Given the description of an element on the screen output the (x, y) to click on. 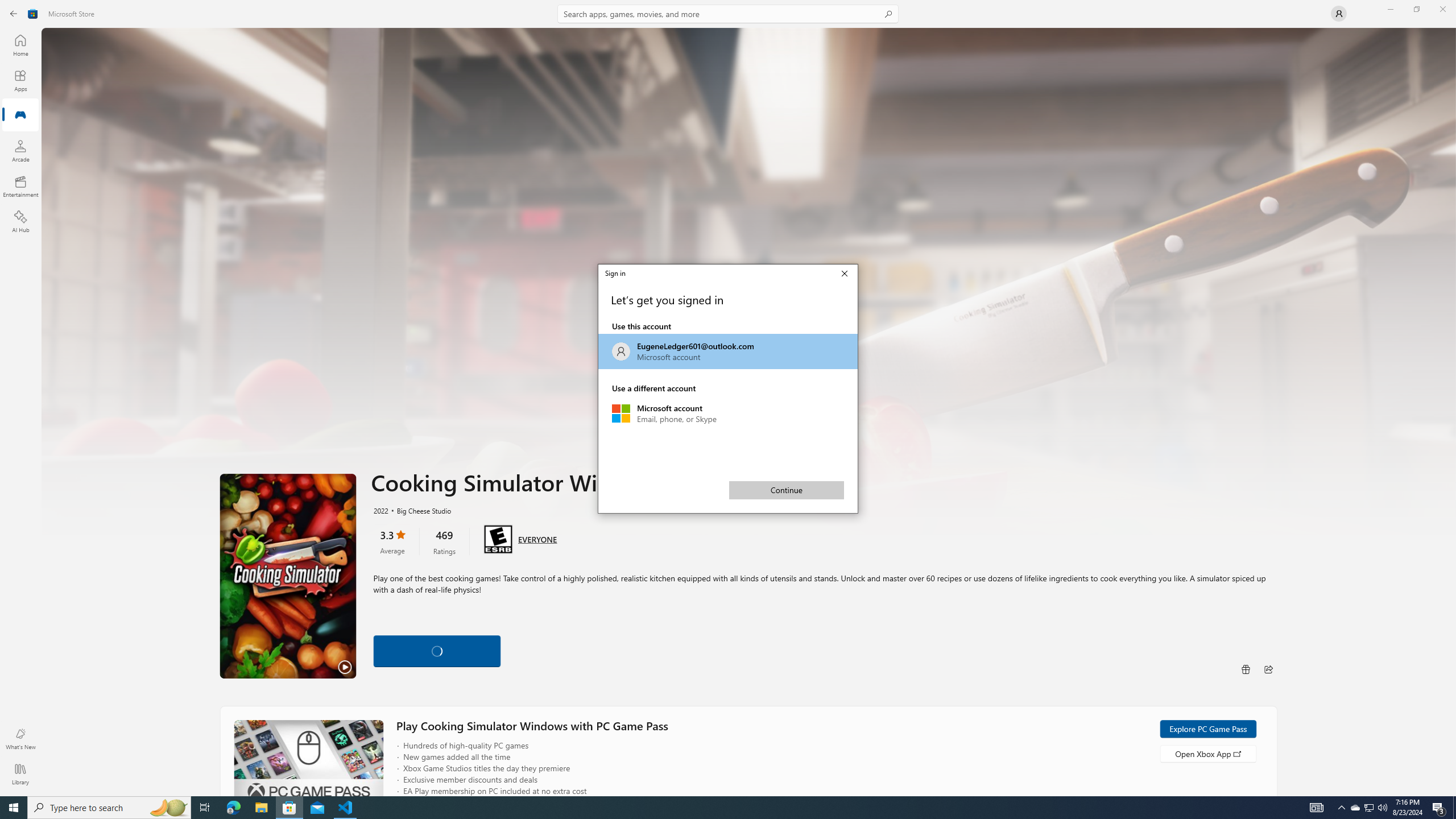
Notification Chevron (1341, 807)
Microsoft Store - 1 running window (289, 807)
AutomationID: 4105 (1316, 807)
2022 (1355, 807)
Explore PC Game Pass (379, 510)
Age rating: EVERYONE. Click for more information. (1207, 728)
Search (537, 538)
Big Cheese Studio (727, 13)
Type here to search (418, 510)
Open Xbox App (108, 807)
